Given the description of an element on the screen output the (x, y) to click on. 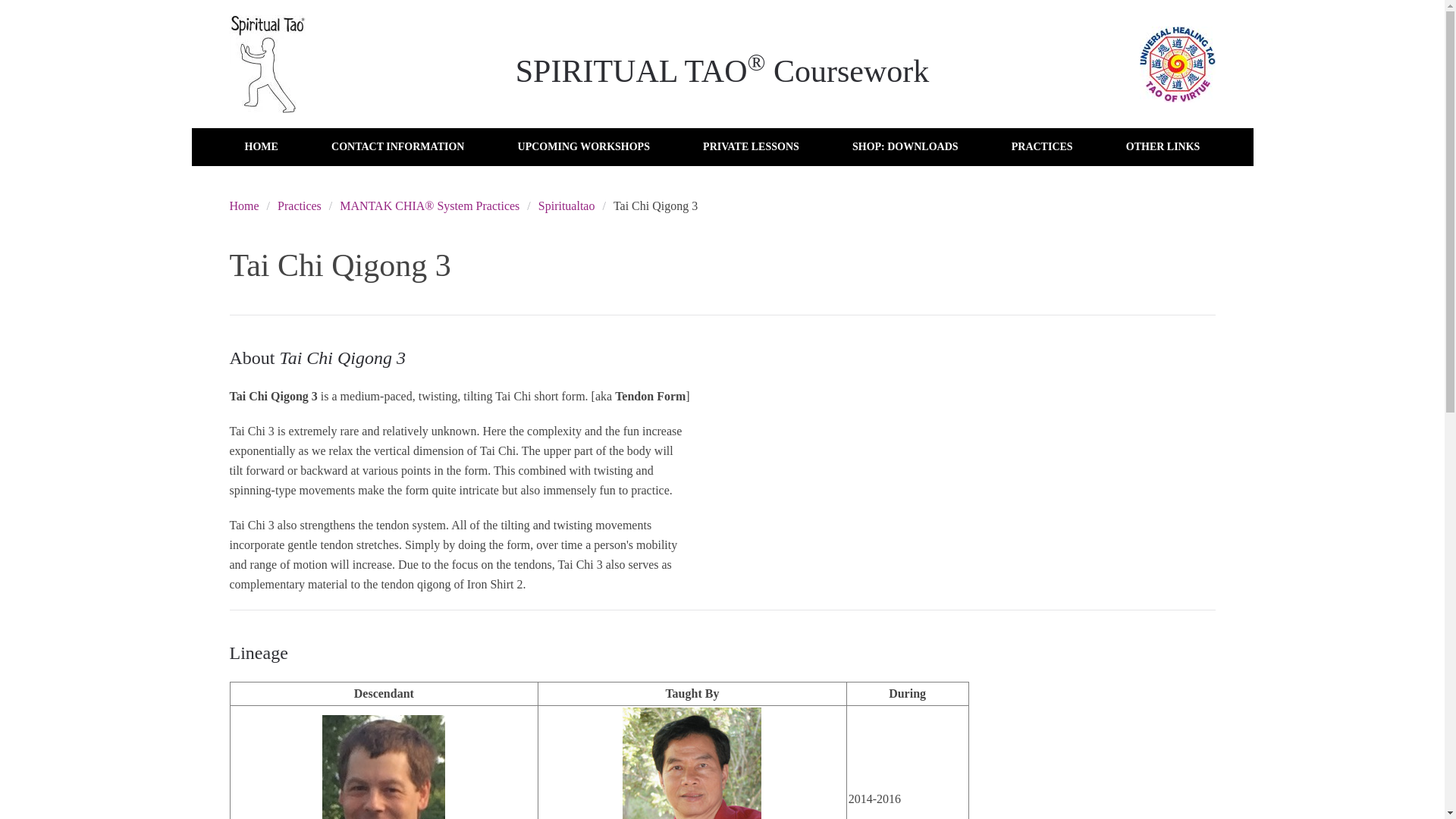
UPCOMING WORKSHOPS (583, 146)
Home (243, 205)
OTHER LINKS (1162, 146)
HOME (260, 146)
Practices (299, 205)
CONTACT INFORMATION (397, 146)
PRACTICES (1041, 146)
PRIVATE LESSONS (750, 146)
SHOP: DOWNLOADS (905, 146)
Spiritualtao (566, 205)
